Given the description of an element on the screen output the (x, y) to click on. 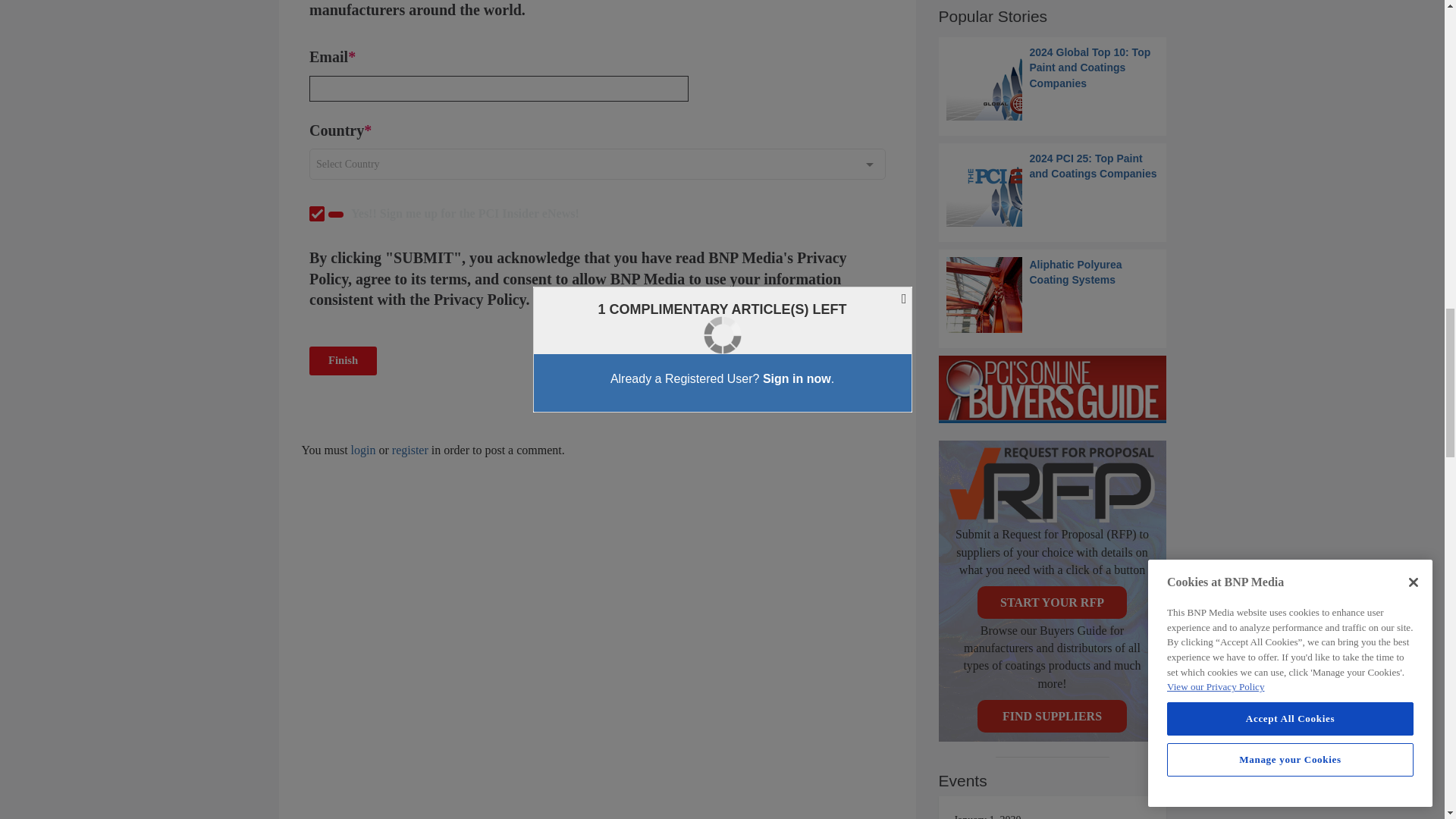
2024 Global Top 10: Top Paint and Coatings Companies (1052, 82)
2024 PCI 25: Top Paint and Coatings Companies (1052, 188)
Aliphatic Polyurea Coating Systems (1052, 294)
